Given the description of an element on the screen output the (x, y) to click on. 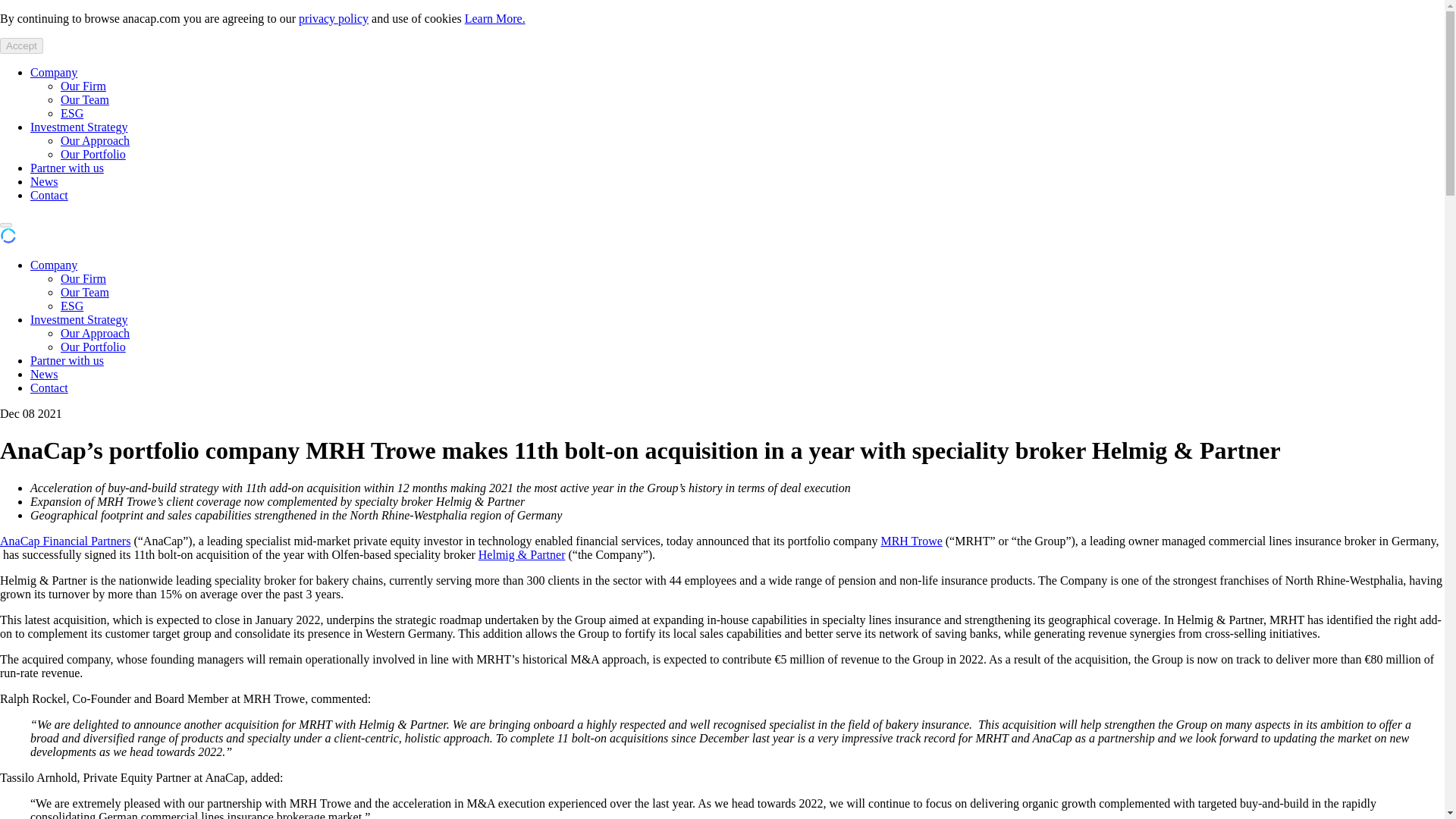
Menu (5, 224)
News (44, 373)
Learn More. (494, 18)
Company (53, 264)
Our Firm (83, 278)
Contact (49, 195)
Our Firm (83, 85)
MRH Trowe (911, 540)
Our Portfolio (93, 154)
Our Portfolio (93, 346)
Our Approach (95, 140)
ESG (71, 305)
Investment Strategy (79, 126)
Partner with us (66, 359)
News (44, 181)
